Given the description of an element on the screen output the (x, y) to click on. 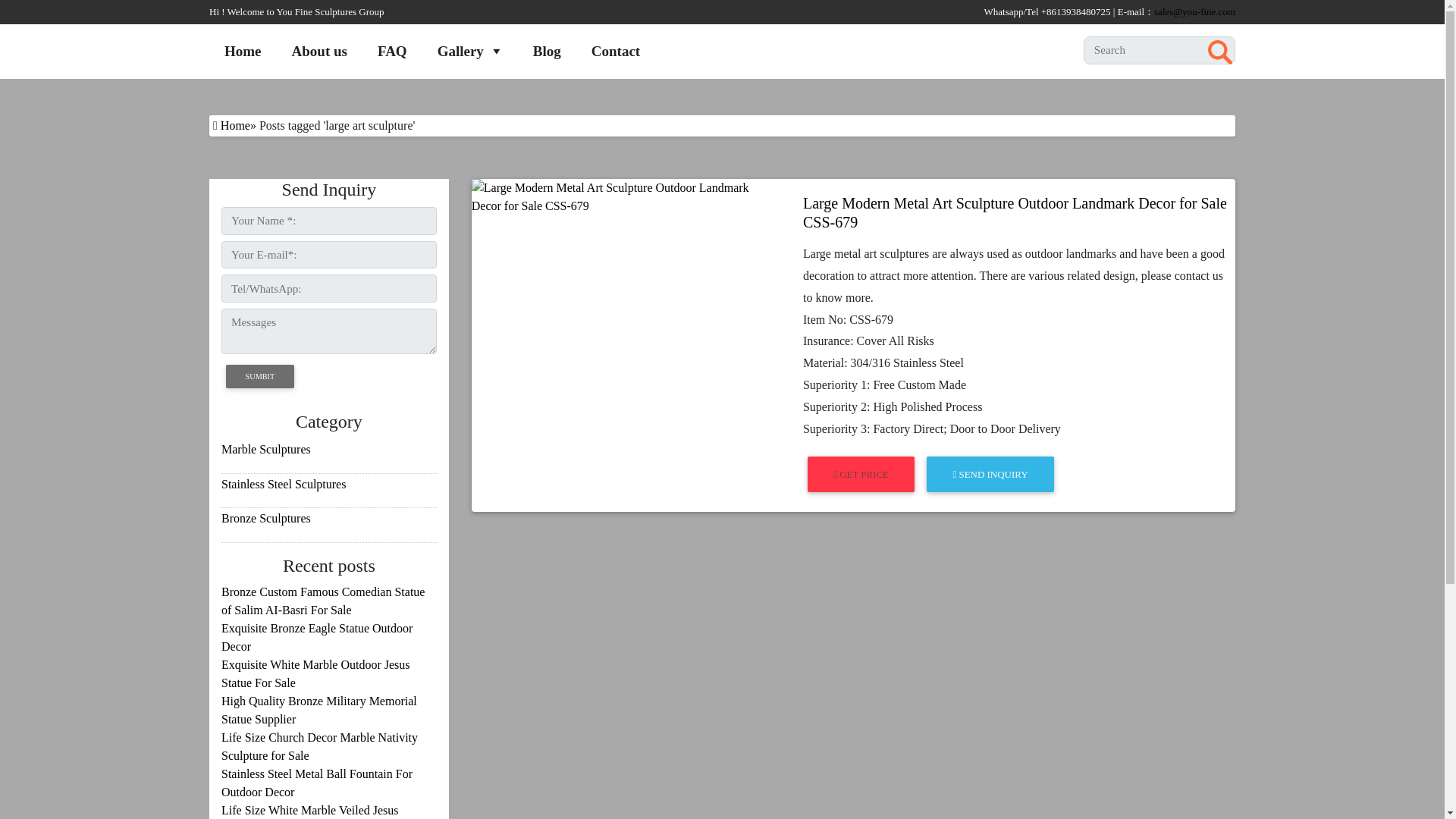
FAQ (392, 51)
Gallery (470, 51)
Contact (615, 51)
Home (242, 51)
About us (319, 51)
Home (235, 124)
Blog (547, 51)
